Given the description of an element on the screen output the (x, y) to click on. 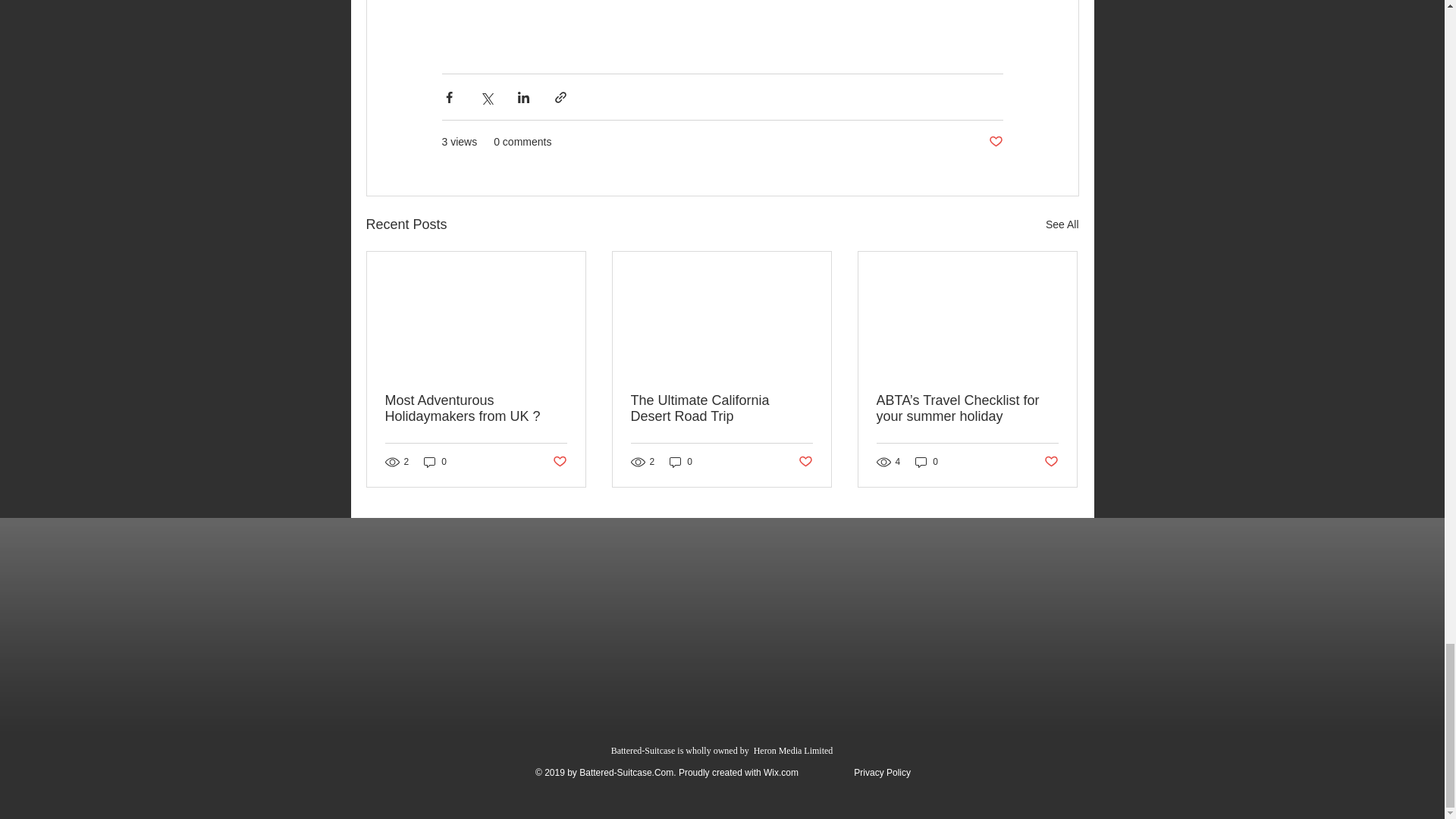
Battered-Suitcase is wholly owned by  Heron Media Limited  (723, 750)
Post not marked as liked (558, 462)
Most Adventurous Holidaymakers from UK ? (476, 409)
Post not marked as liked (1050, 462)
Post not marked as liked (995, 141)
Post not marked as liked (804, 462)
The Ultimate California Desert Road Trip (721, 409)
0 (926, 462)
0 (681, 462)
0 (435, 462)
See All (1061, 224)
